Given the description of an element on the screen output the (x, y) to click on. 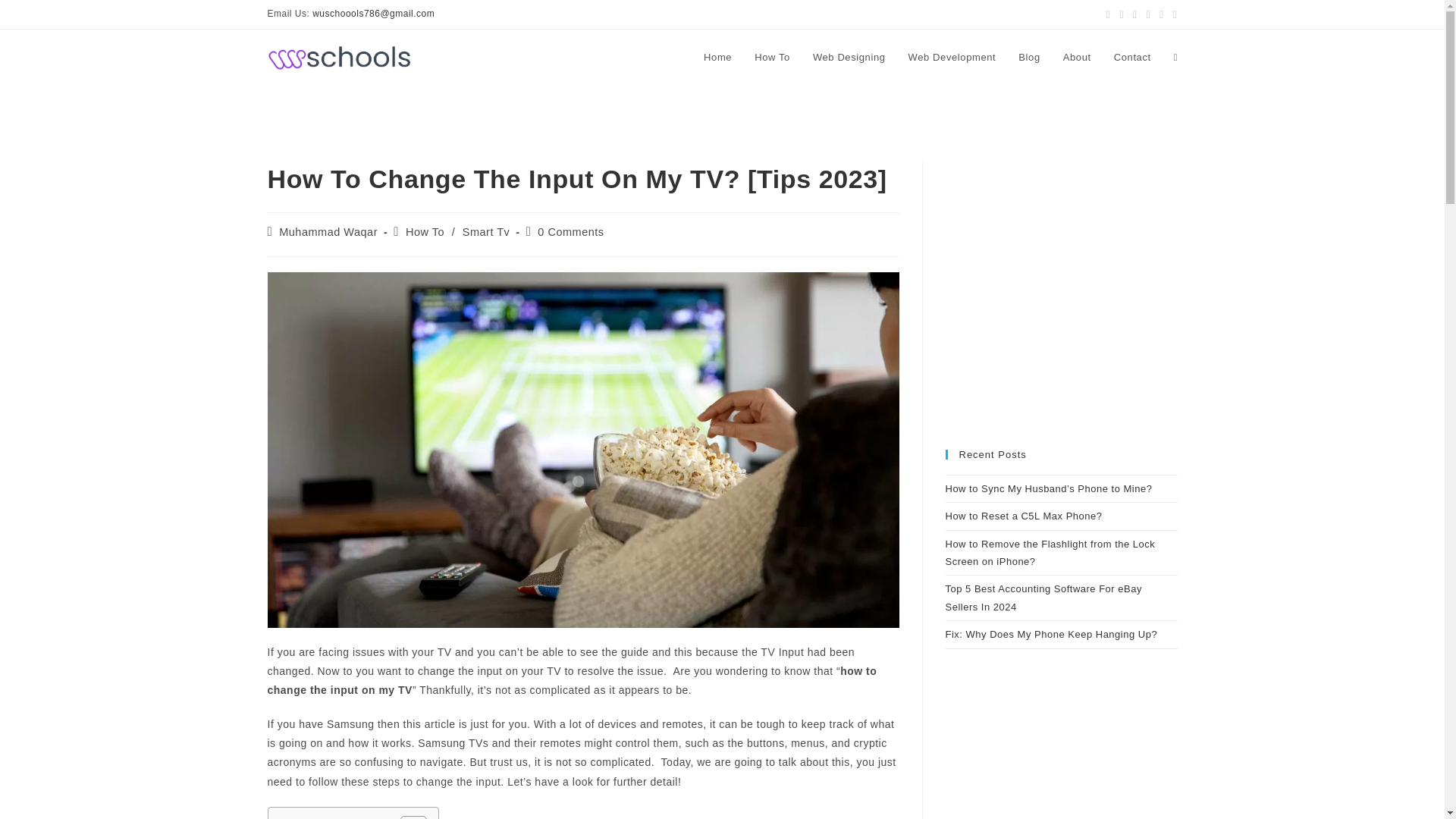
Home (717, 57)
Web Development (951, 57)
Posts by Muhammad Waqar (328, 232)
Advertisement (1060, 766)
Web Designing (849, 57)
About (1076, 57)
Advertisement (1060, 306)
How To (772, 57)
Contact (1131, 57)
